Given the description of an element on the screen output the (x, y) to click on. 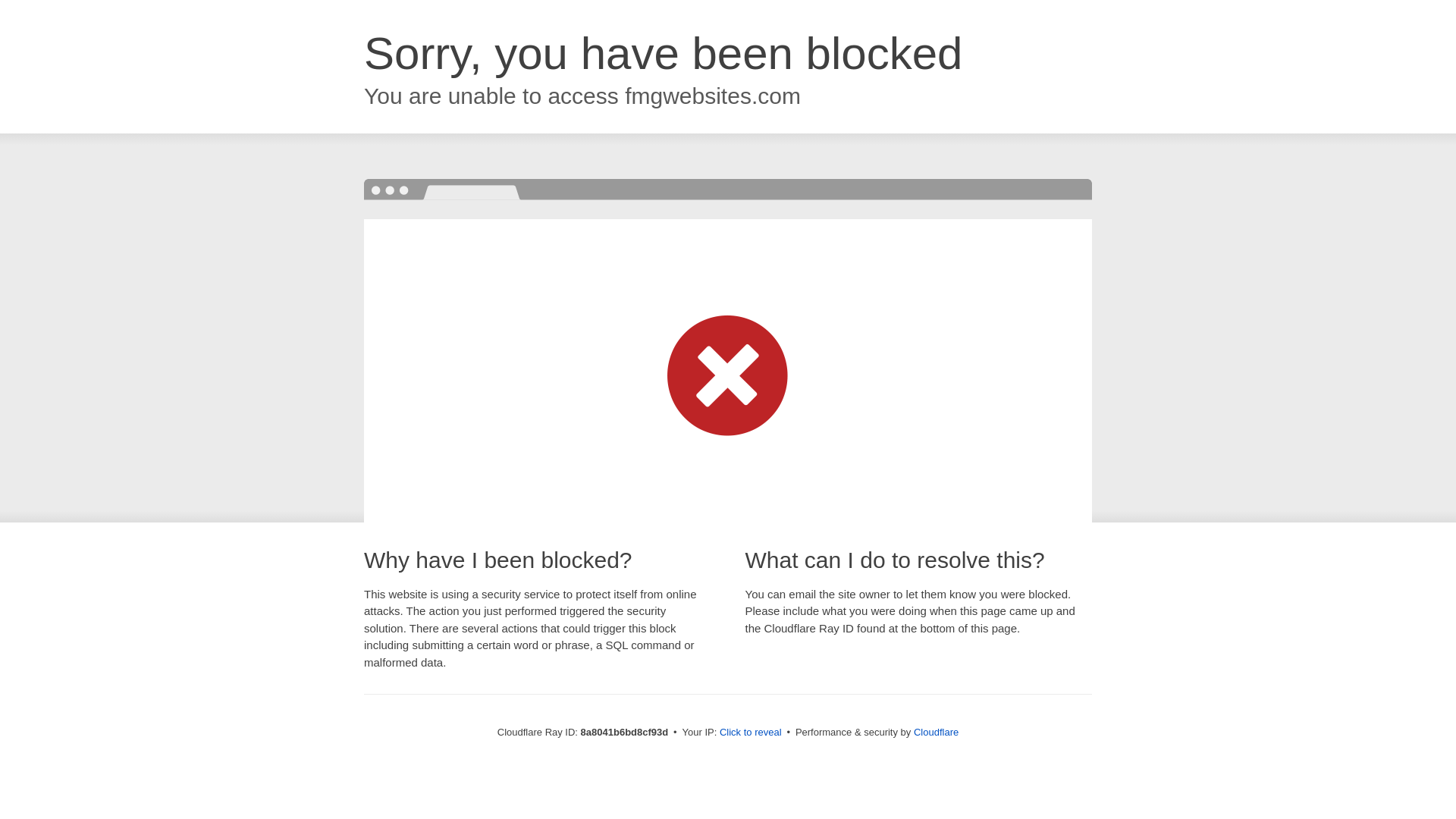
Cloudflare (936, 731)
Click to reveal (750, 732)
